Given the description of an element on the screen output the (x, y) to click on. 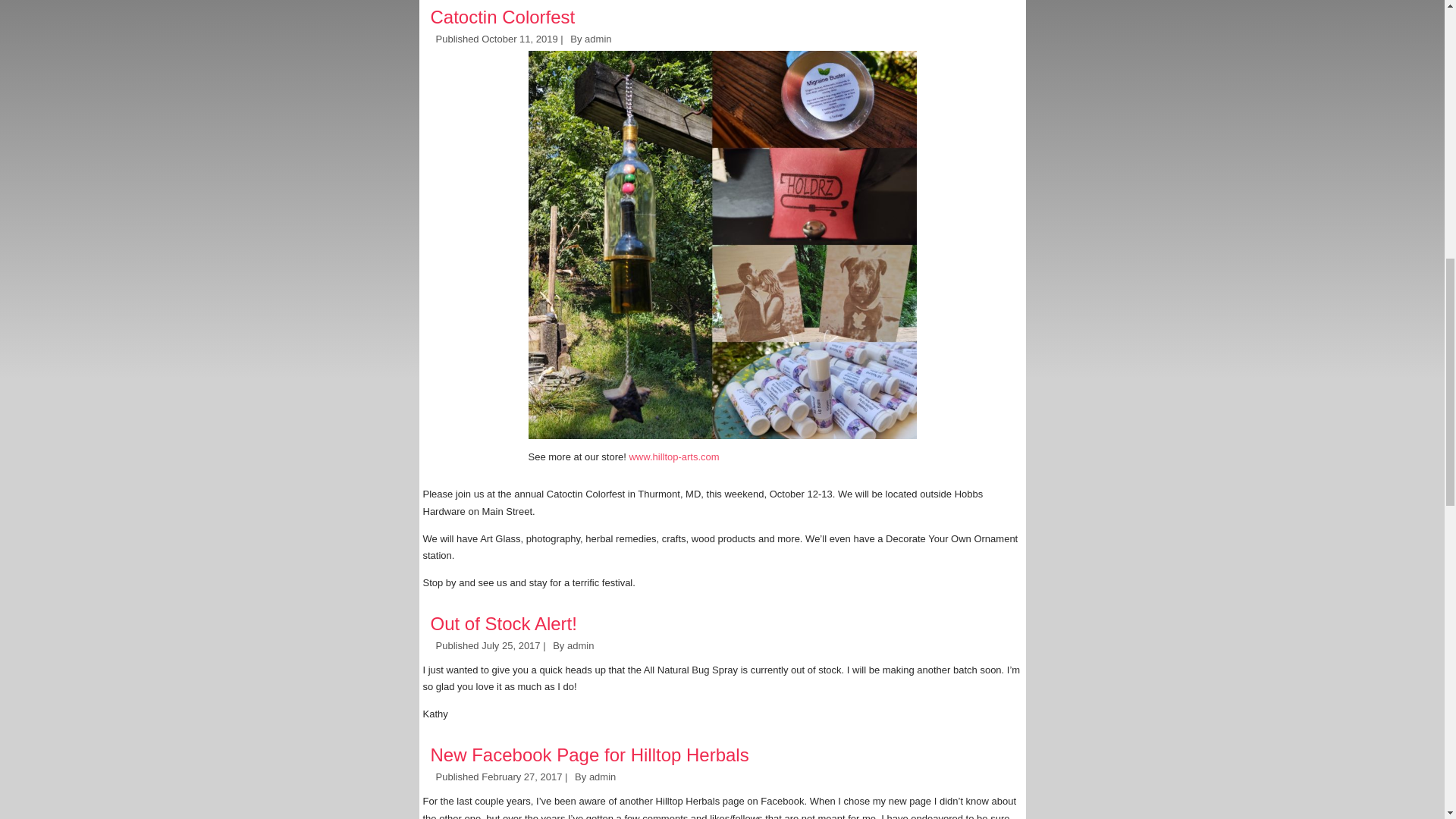
Catoctin Colorfest (502, 16)
View all posts by admin (580, 645)
admin (580, 645)
www.hilltop-arts.com (673, 456)
Catoctin Colorfest (502, 16)
4:16 pm (510, 645)
admin (602, 776)
Out of Stock Alert!  (506, 623)
admin (598, 39)
